Given the description of an element on the screen output the (x, y) to click on. 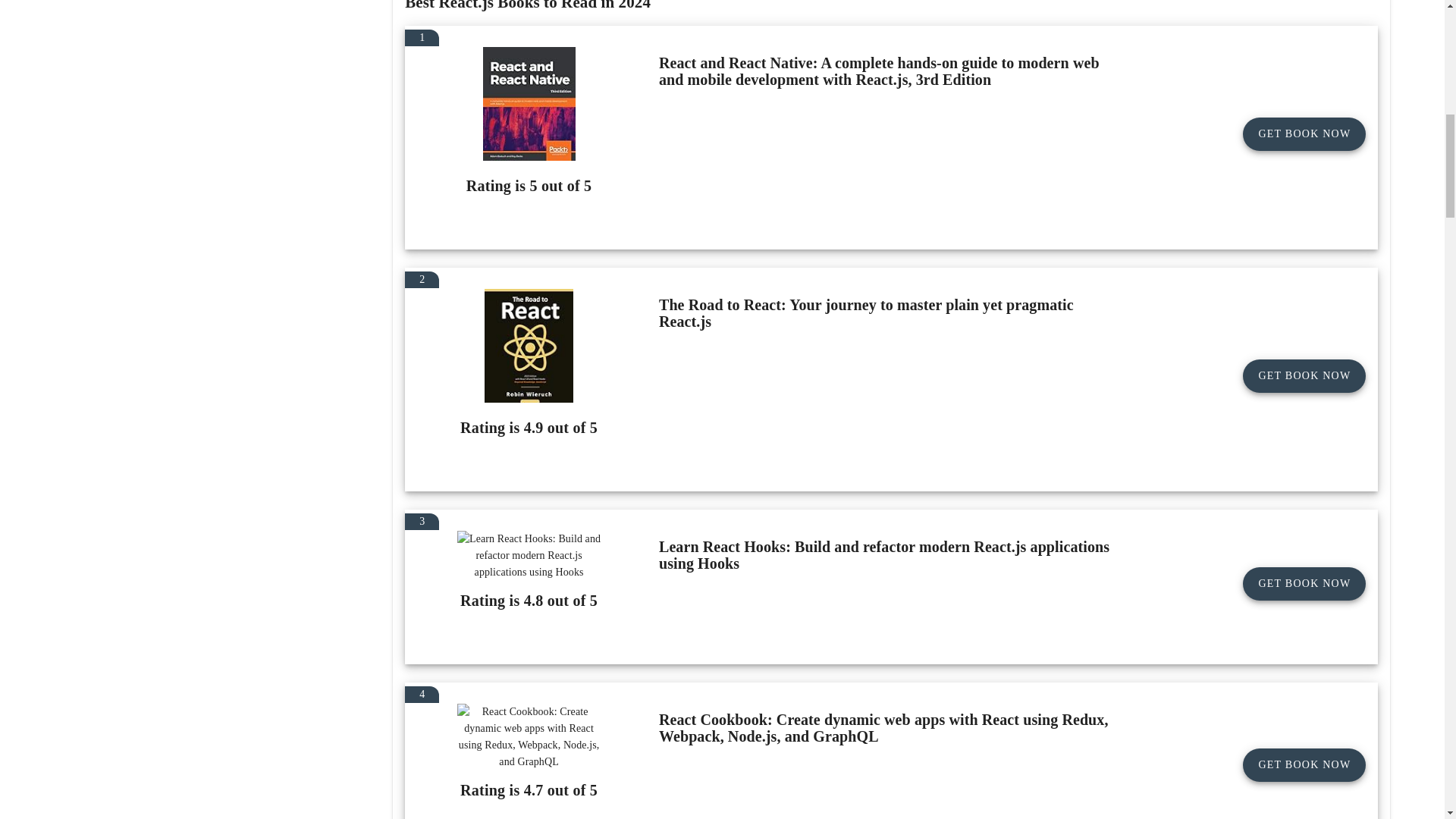
GET BOOK NOW (1304, 376)
GET BOOK NOW (1304, 133)
GET BOOK NOW (1304, 583)
